Given the description of an element on the screen output the (x, y) to click on. 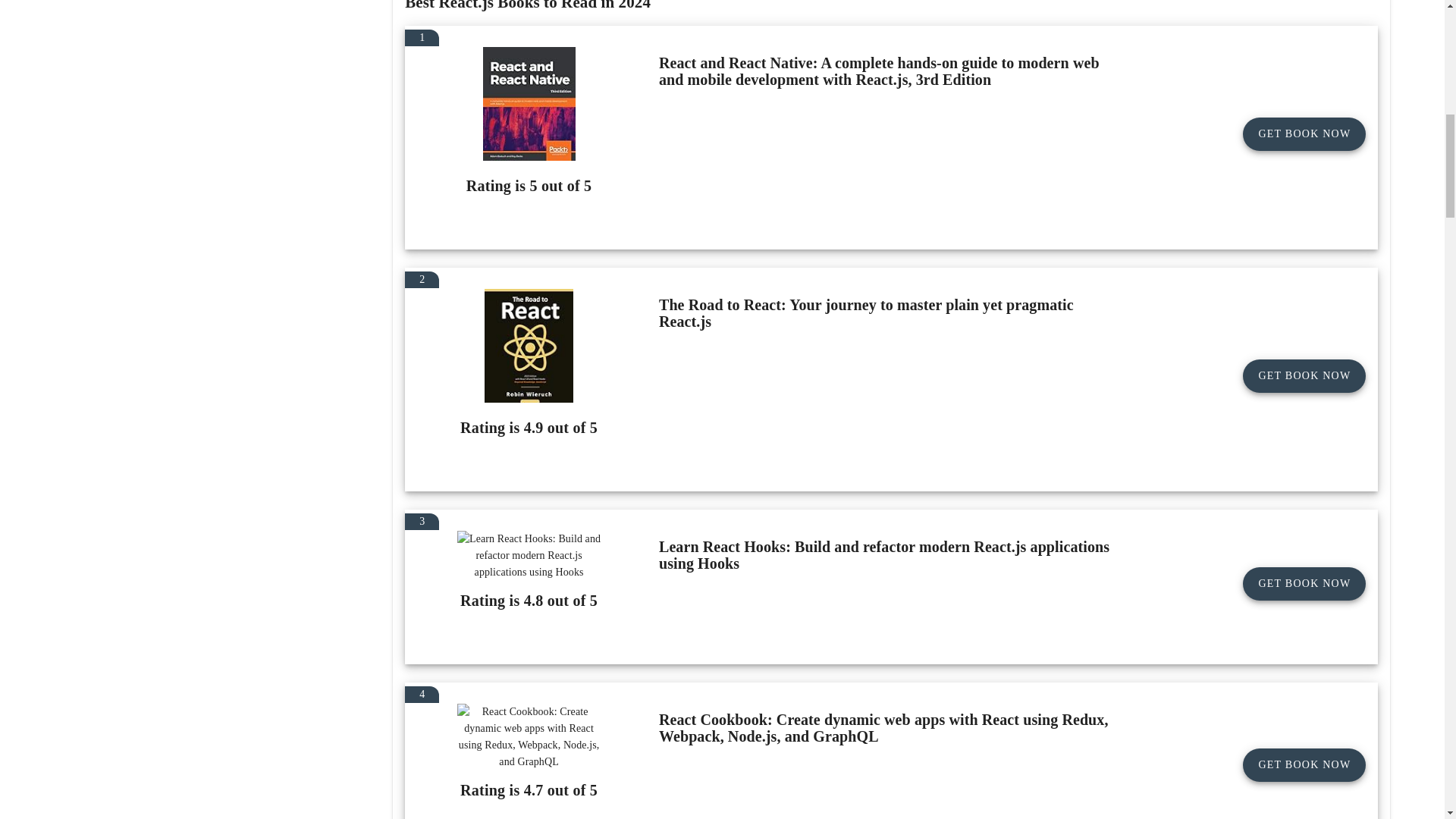
GET BOOK NOW (1304, 376)
GET BOOK NOW (1304, 133)
GET BOOK NOW (1304, 583)
